Given the description of an element on the screen output the (x, y) to click on. 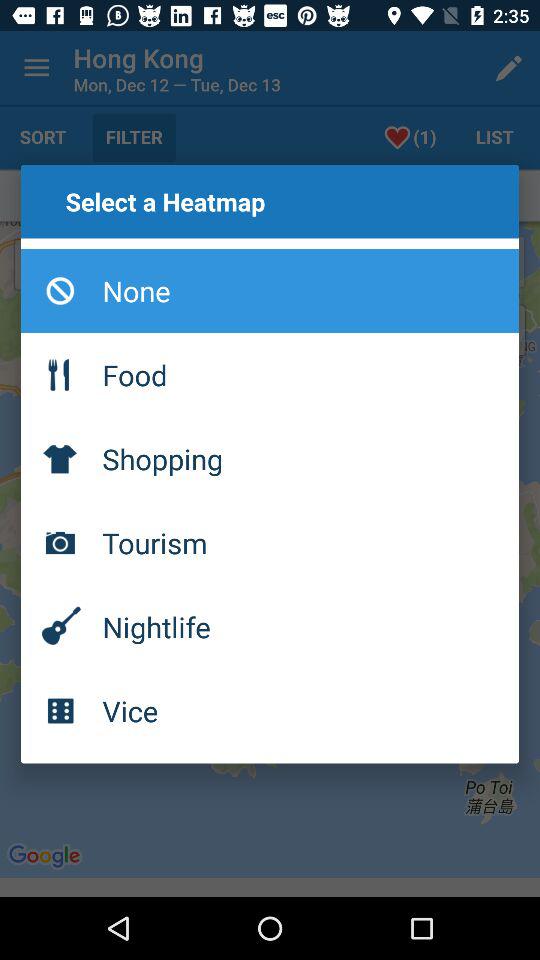
open icon below select a heatmap (270, 291)
